Given the description of an element on the screen output the (x, y) to click on. 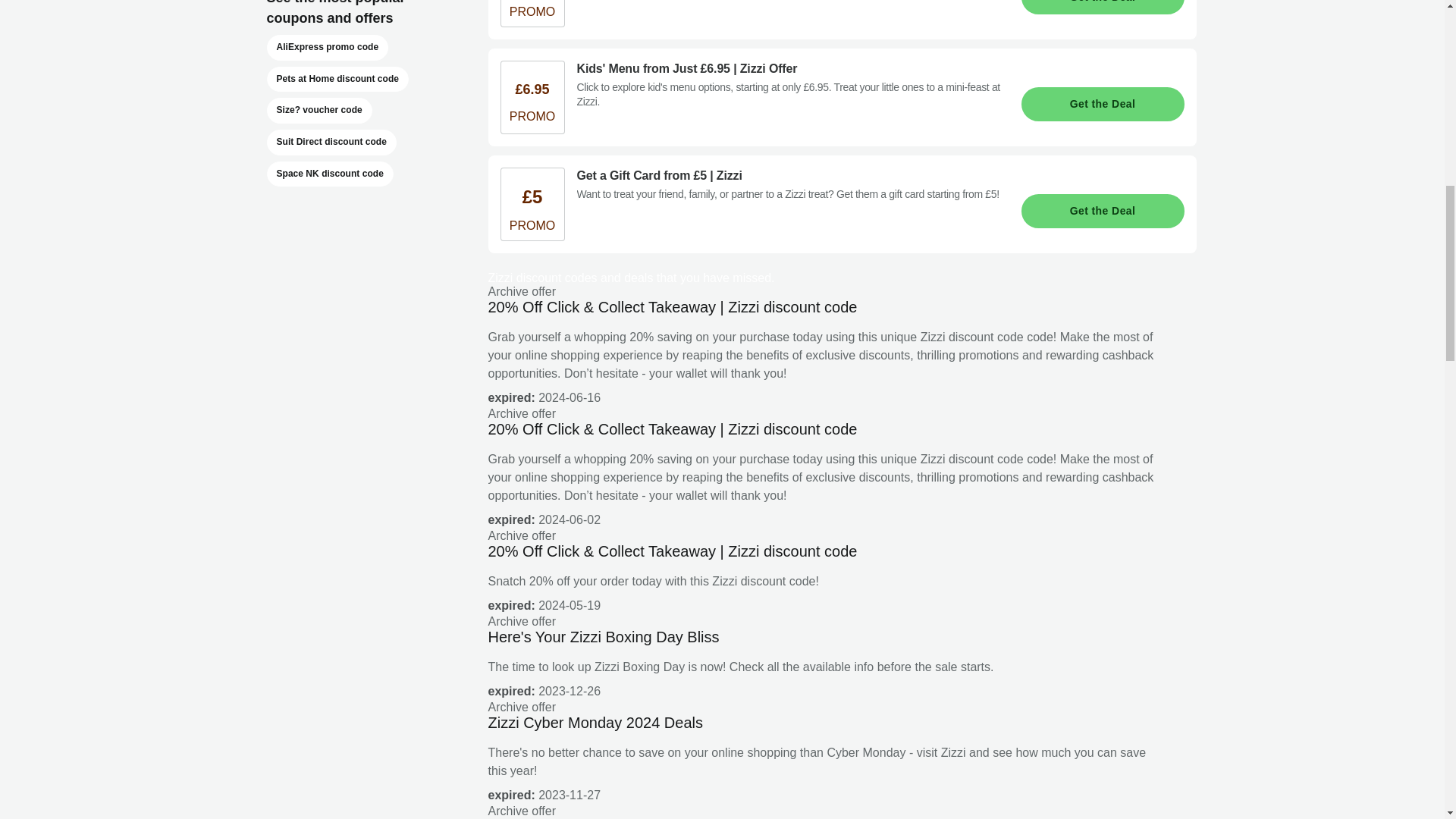
Get the Deal (1101, 211)
Get the Deal (1101, 7)
Get the Deal (1101, 103)
